Given the description of an element on the screen output the (x, y) to click on. 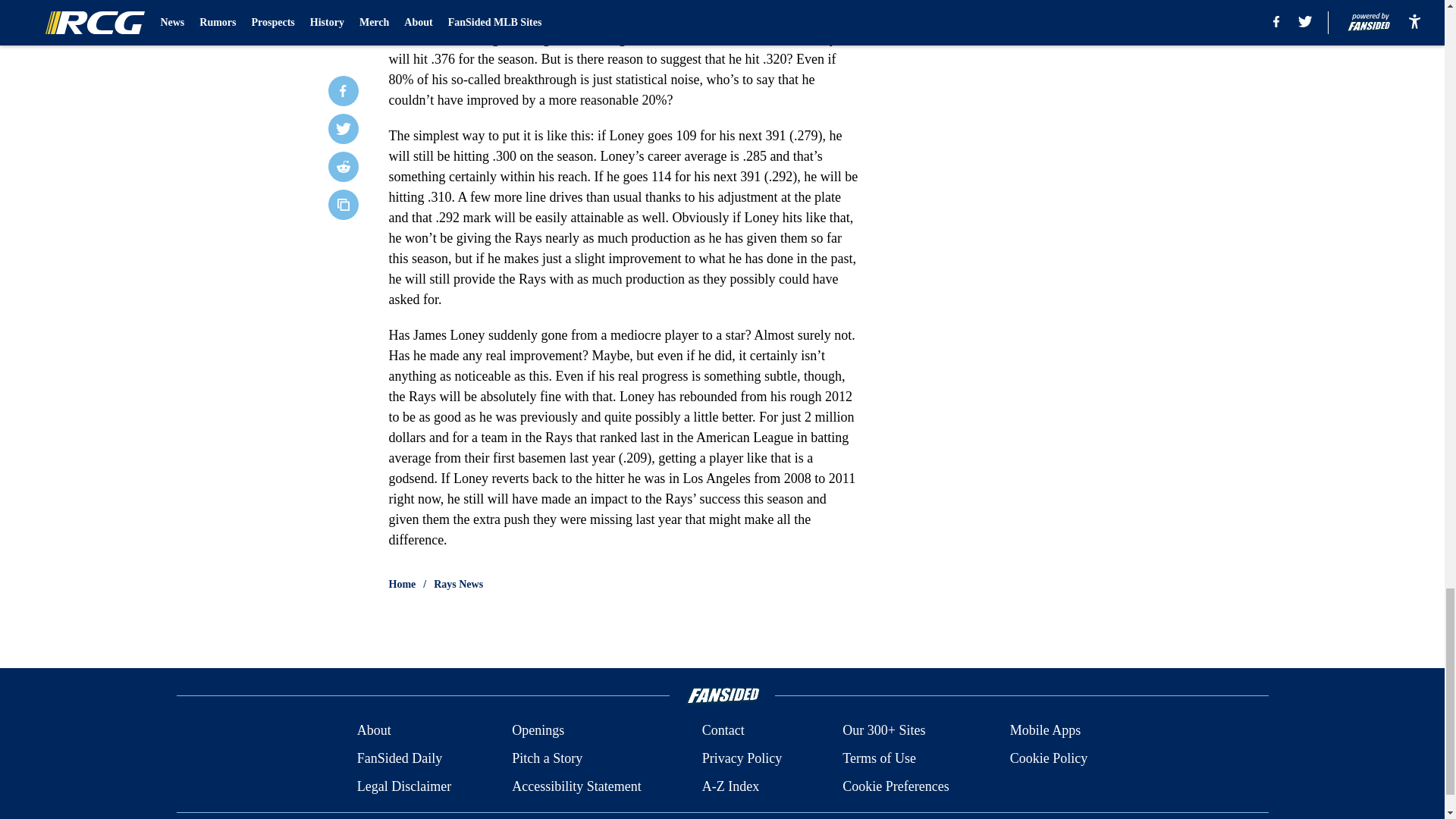
Contact (722, 730)
Terms of Use (879, 758)
Rays News (458, 584)
FanSided Daily (399, 758)
Home (401, 584)
Cookie Policy (1048, 758)
Accessibility Statement (576, 786)
Mobile Apps (1045, 730)
About (373, 730)
Pitch a Story (547, 758)
Legal Disclaimer (403, 786)
Cookie Preferences (896, 786)
Privacy Policy (742, 758)
Openings (538, 730)
A-Z Index (729, 786)
